Given the description of an element on the screen output the (x, y) to click on. 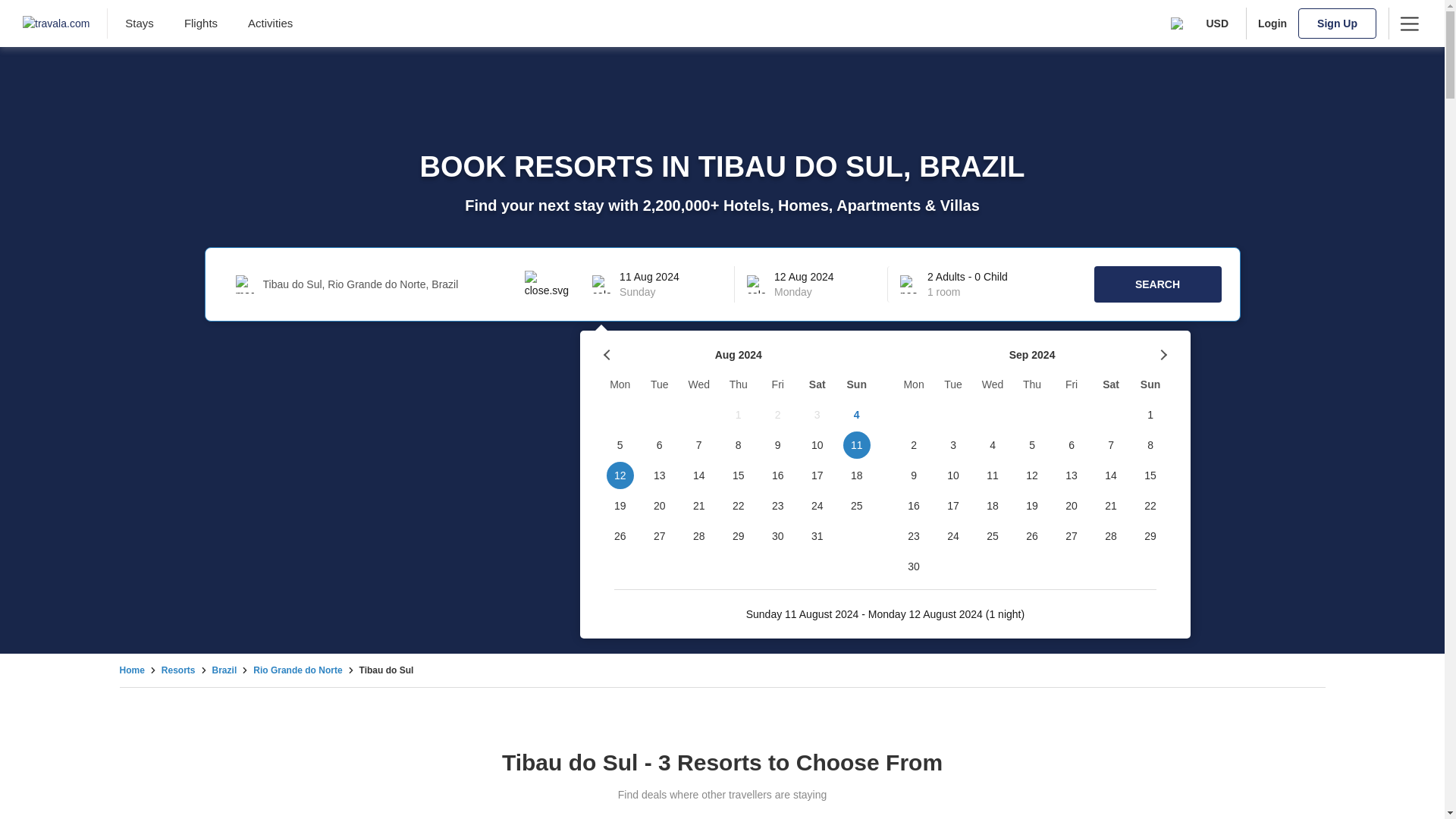
Tibau do Sul, Rio Grande do Norte, Brazil (393, 284)
29 (738, 535)
19 (619, 505)
20 (659, 505)
Stays (139, 22)
1 (738, 414)
27 (659, 535)
28 (699, 535)
Activities (269, 22)
23 (777, 505)
18 (856, 475)
22 (738, 505)
Flights (200, 22)
5 (619, 444)
30 (777, 535)
